Given the description of an element on the screen output the (x, y) to click on. 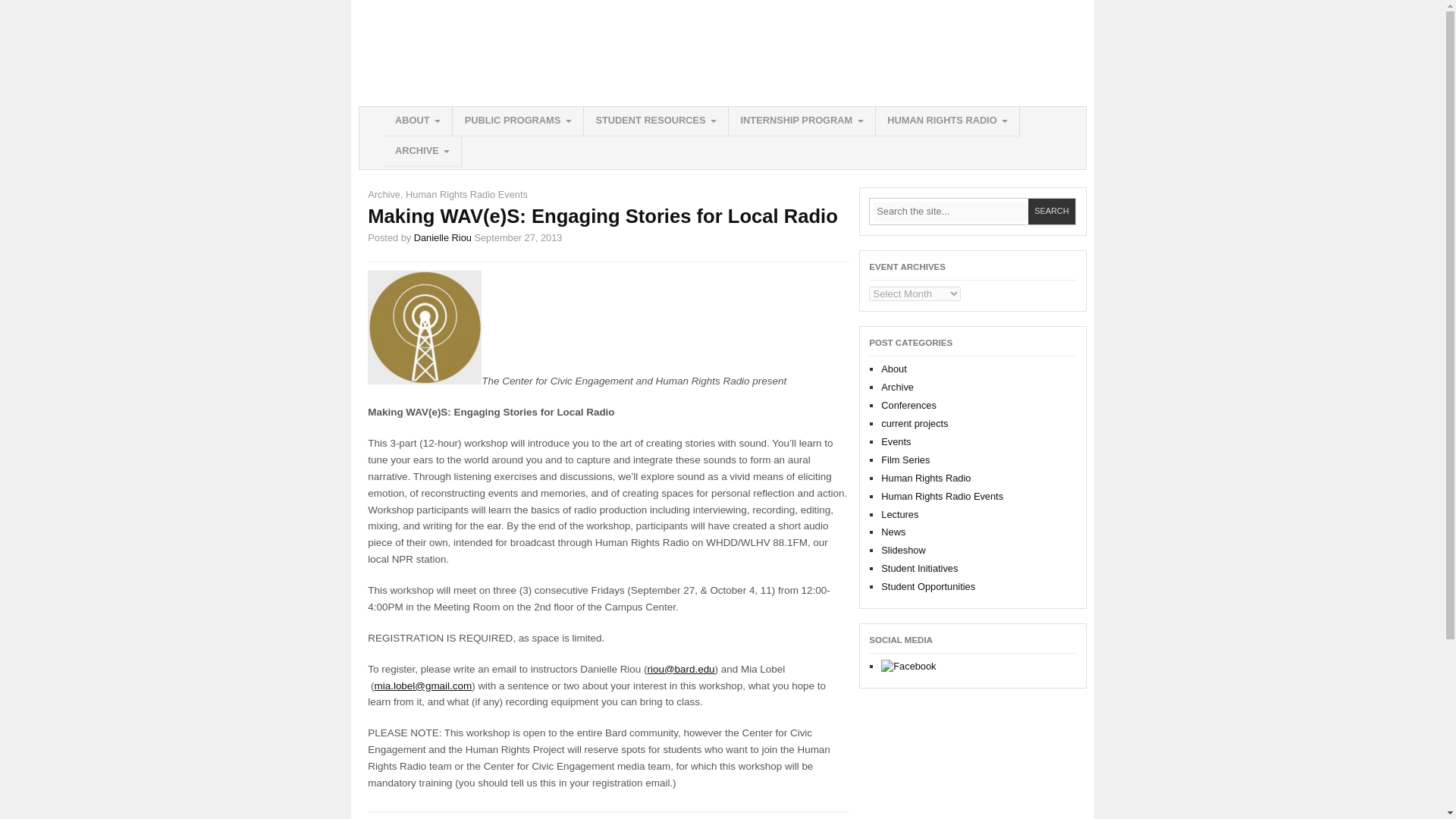
Danielle Riou (442, 237)
ABOUT (418, 122)
Archive (384, 194)
ARCHIVE (422, 152)
Texts  (655, 122)
STUDENT RESOURCES (655, 122)
HUMAN RIGHTS RADIO (947, 122)
INTERNSHIP PROGRAM (802, 122)
Human Rights Radio Events (466, 194)
Danielle Riou (442, 237)
PUBLIC PROGRAMS (517, 122)
Search (1051, 212)
